Given the description of an element on the screen output the (x, y) to click on. 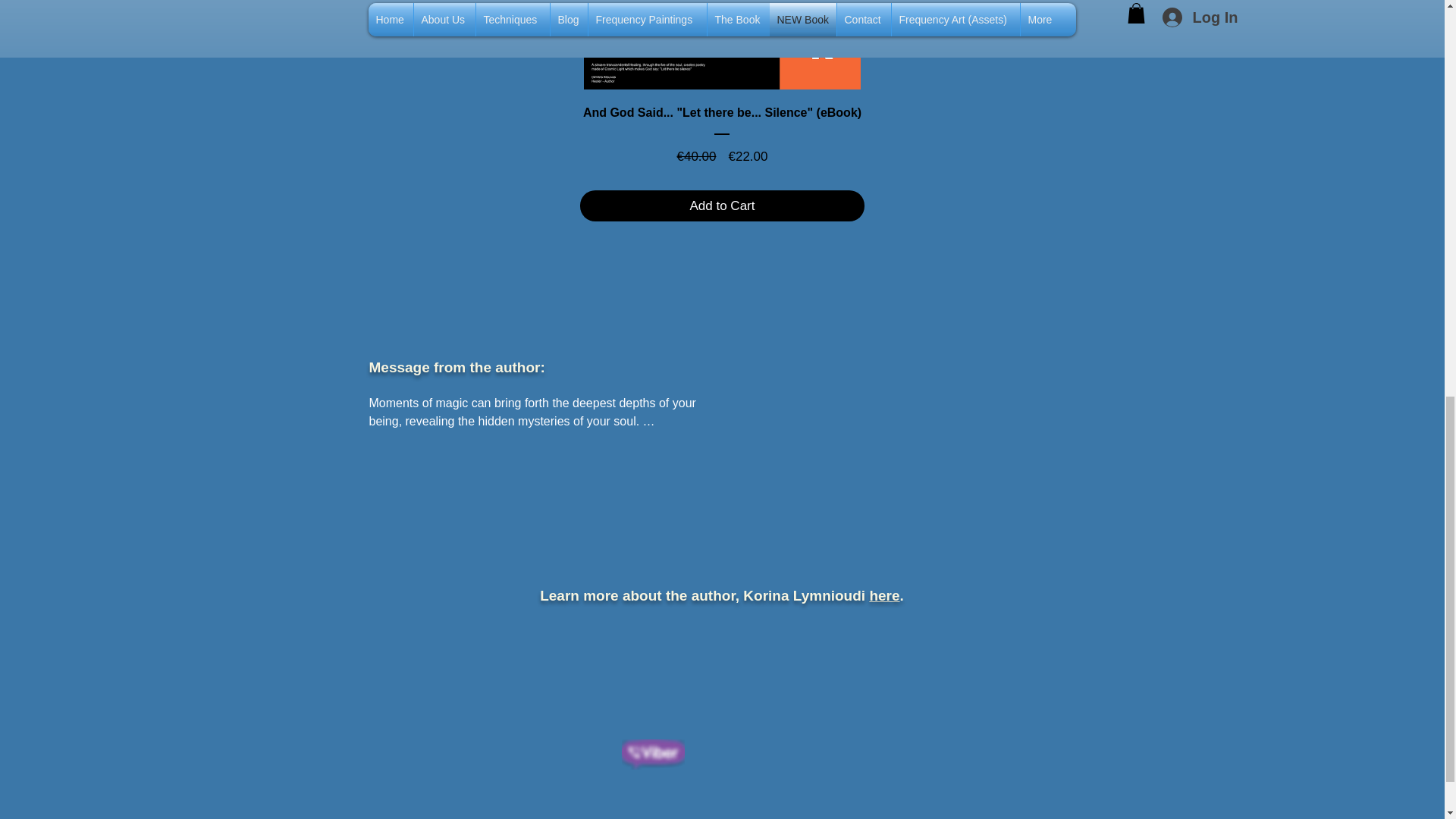
Add to Cart (721, 205)
here (884, 595)
